Given the description of an element on the screen output the (x, y) to click on. 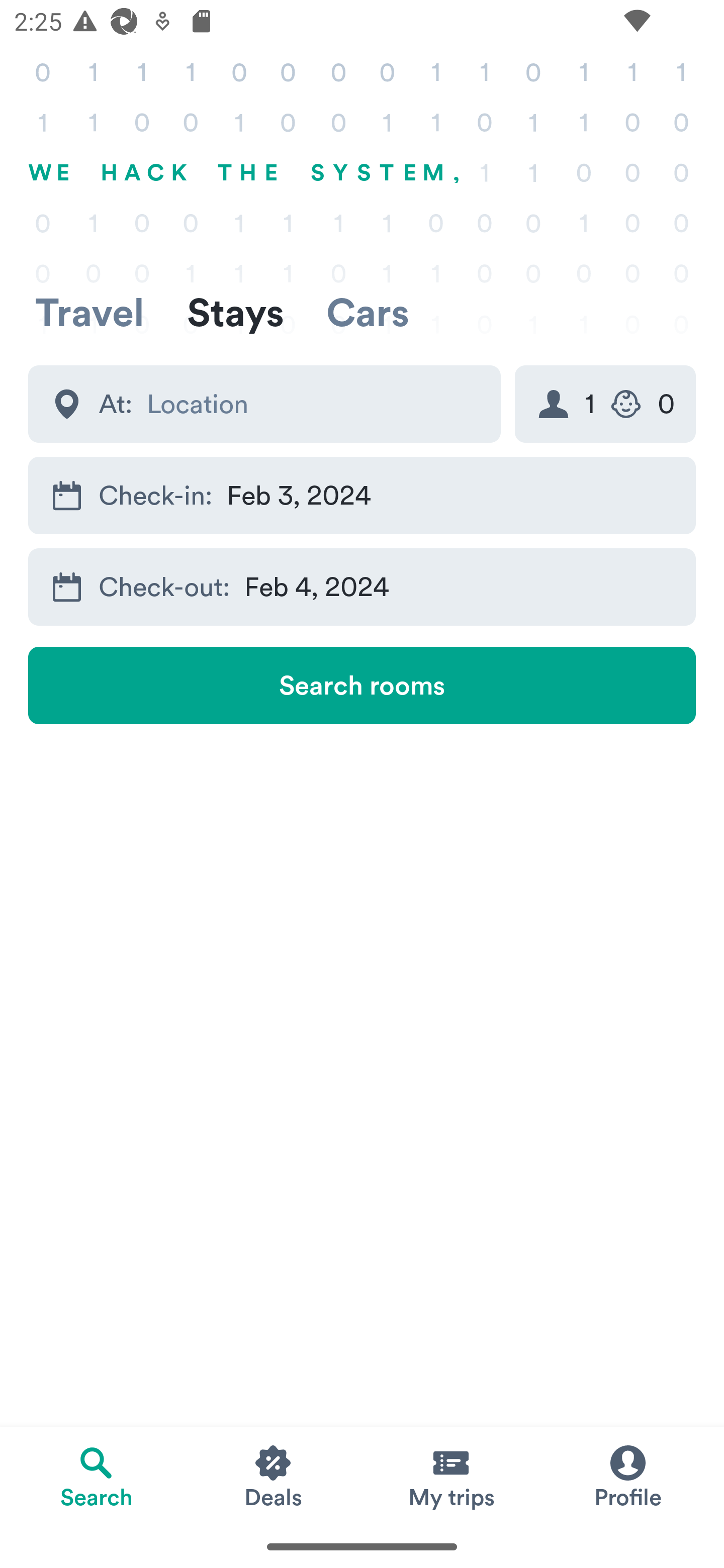
Travel (89, 311)
Stays (235, 311)
Cars (367, 311)
At: (264, 404)
1 0 (604, 404)
Check-in: Feb 3, 2024 (361, 495)
Check-out: Feb 4, 2024 (361, 586)
Search rooms (361, 684)
Deals (273, 1475)
My trips (450, 1475)
Profile (627, 1475)
